Given the description of an element on the screen output the (x, y) to click on. 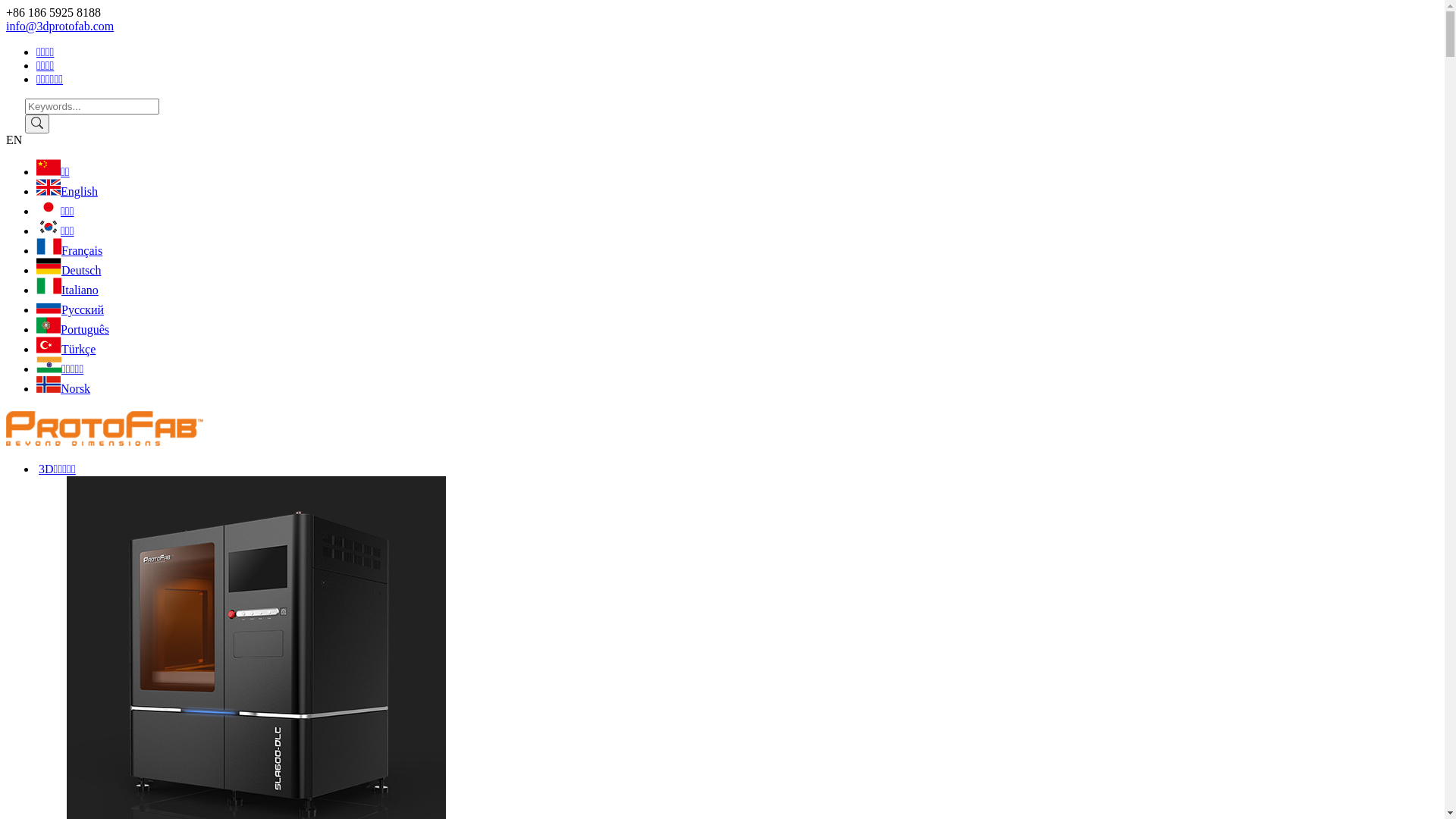
Italiano Element type: text (67, 289)
Norsk Element type: text (63, 388)
English Element type: text (66, 191)
Deutsch Element type: text (68, 269)
info@3dprotofab.com Element type: text (59, 25)
